Given the description of an element on the screen output the (x, y) to click on. 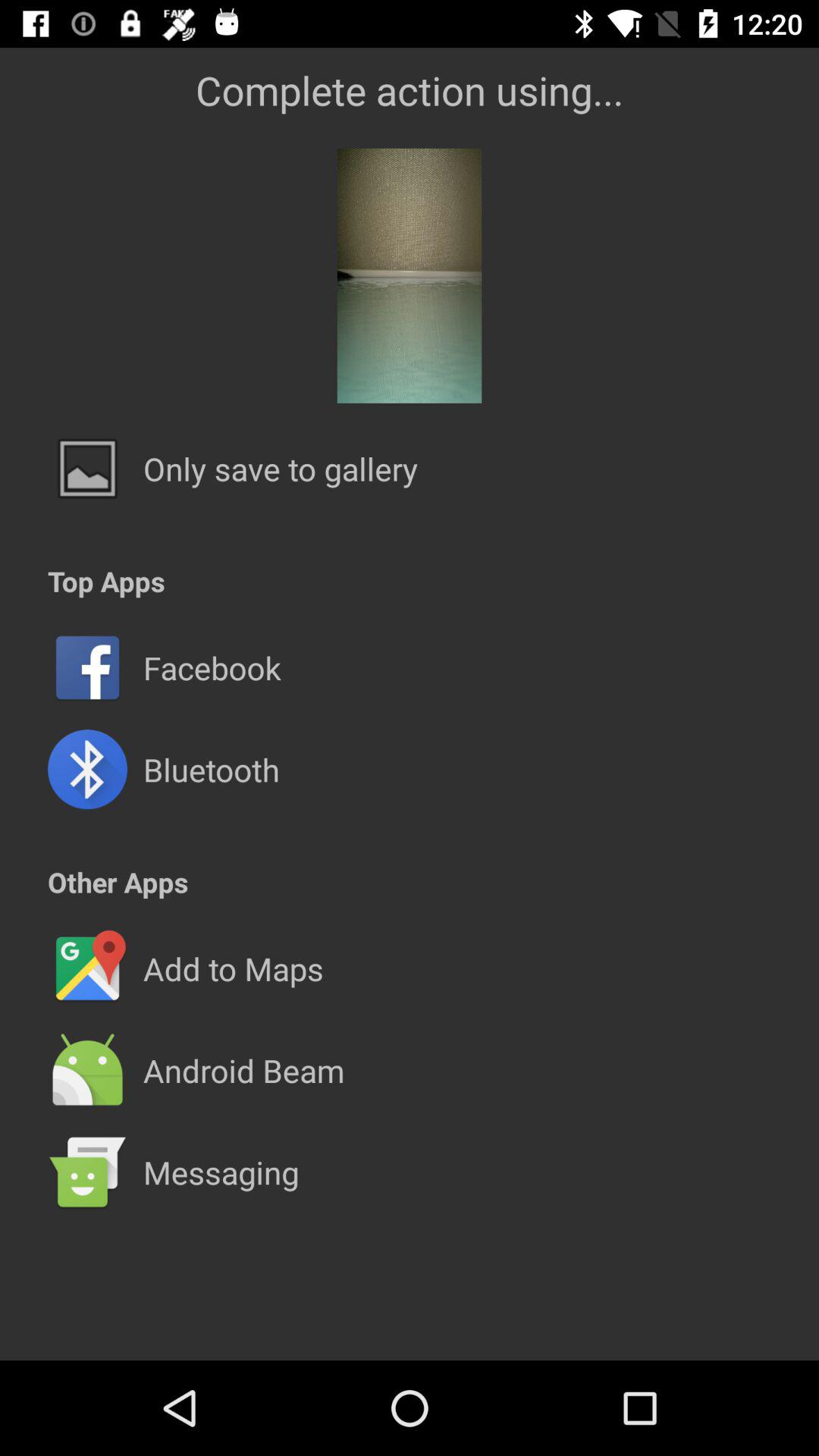
turn on other apps item (117, 881)
